Given the description of an element on the screen output the (x, y) to click on. 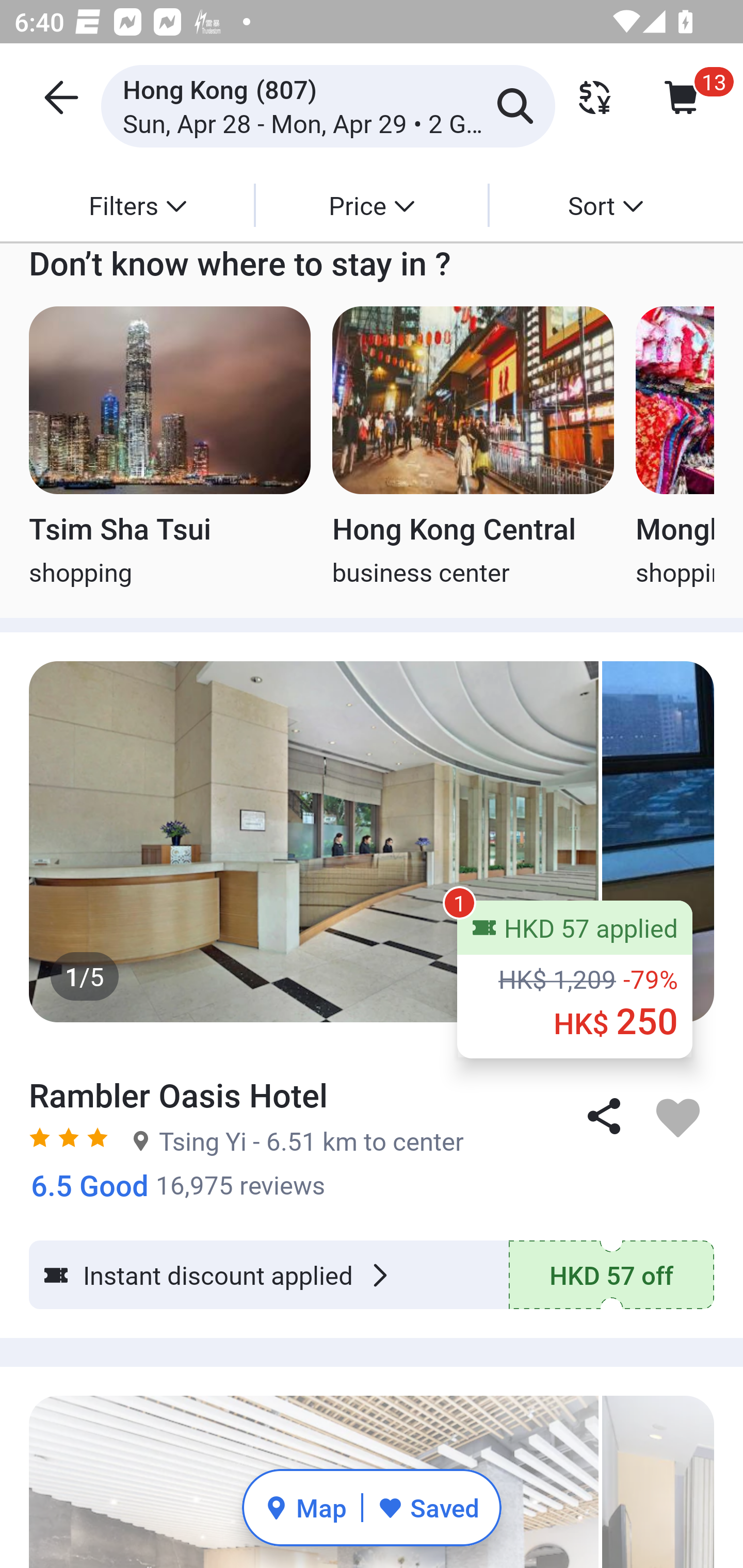
Filters (137, 205)
Price (371, 205)
Sort (605, 205)
Tsim Sha Tsui shopping (169, 447)
Hong Kong Central business center (472, 447)
1/5 (371, 841)
HKD 57 applied ‪HK$ 1,209 -79% ‪HK$ 250 1 (574, 979)
Instant discount applied HKD 57 off (371, 1275)
Map (305, 1507)
Saved (428, 1507)
